Given the description of an element on the screen output the (x, y) to click on. 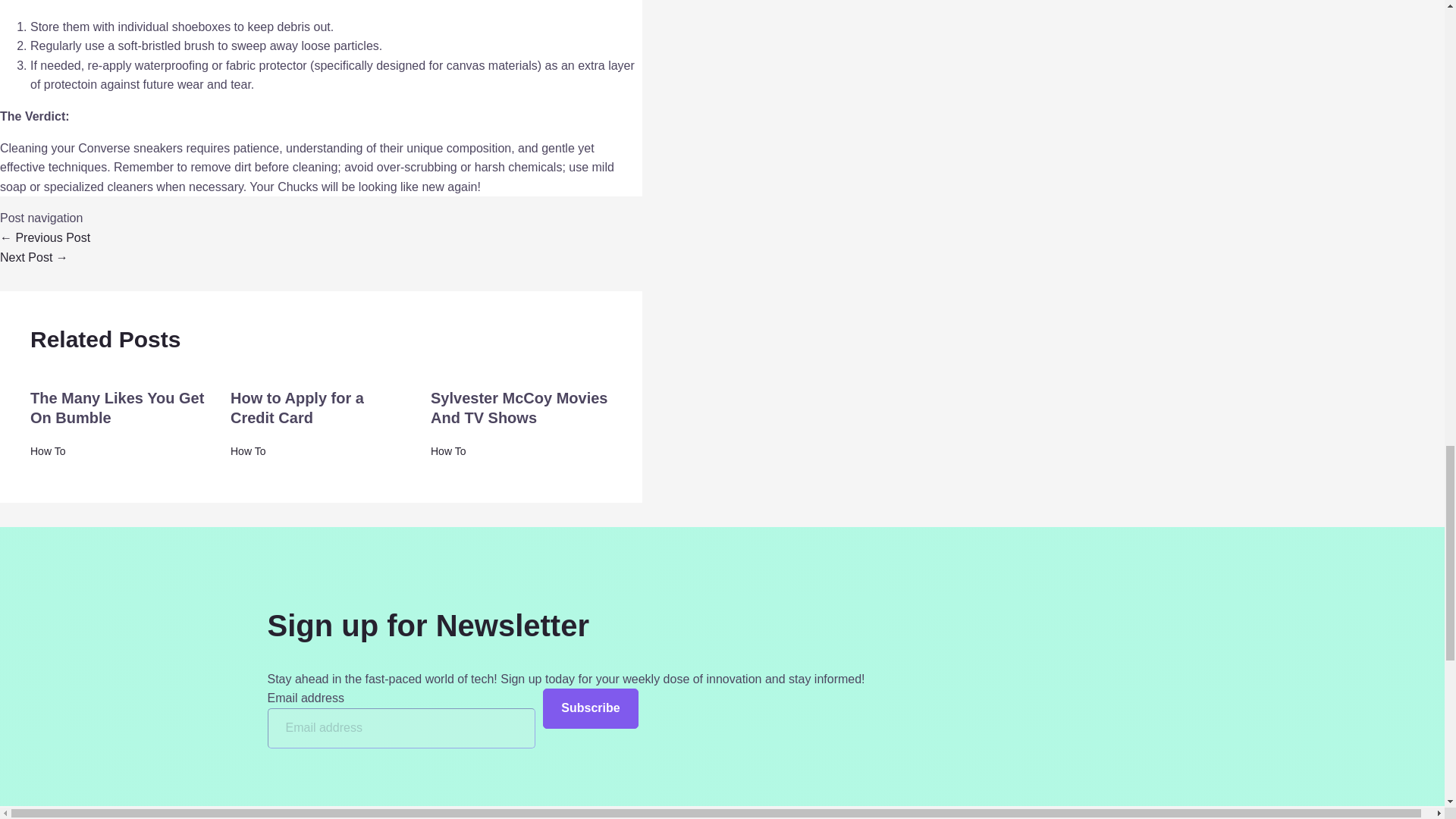
Risk Like Games (34, 256)
How To (247, 451)
How to Apply for a Credit Card (297, 407)
Subscribe (590, 708)
How To (47, 451)
How To (447, 451)
How To Speed Up iCloud Backup (45, 237)
Sylvester McCoy Movies And TV Shows (518, 407)
The Many Likes You Get On Bumble (116, 407)
Please fill in this field. (400, 728)
